Given the description of an element on the screen output the (x, y) to click on. 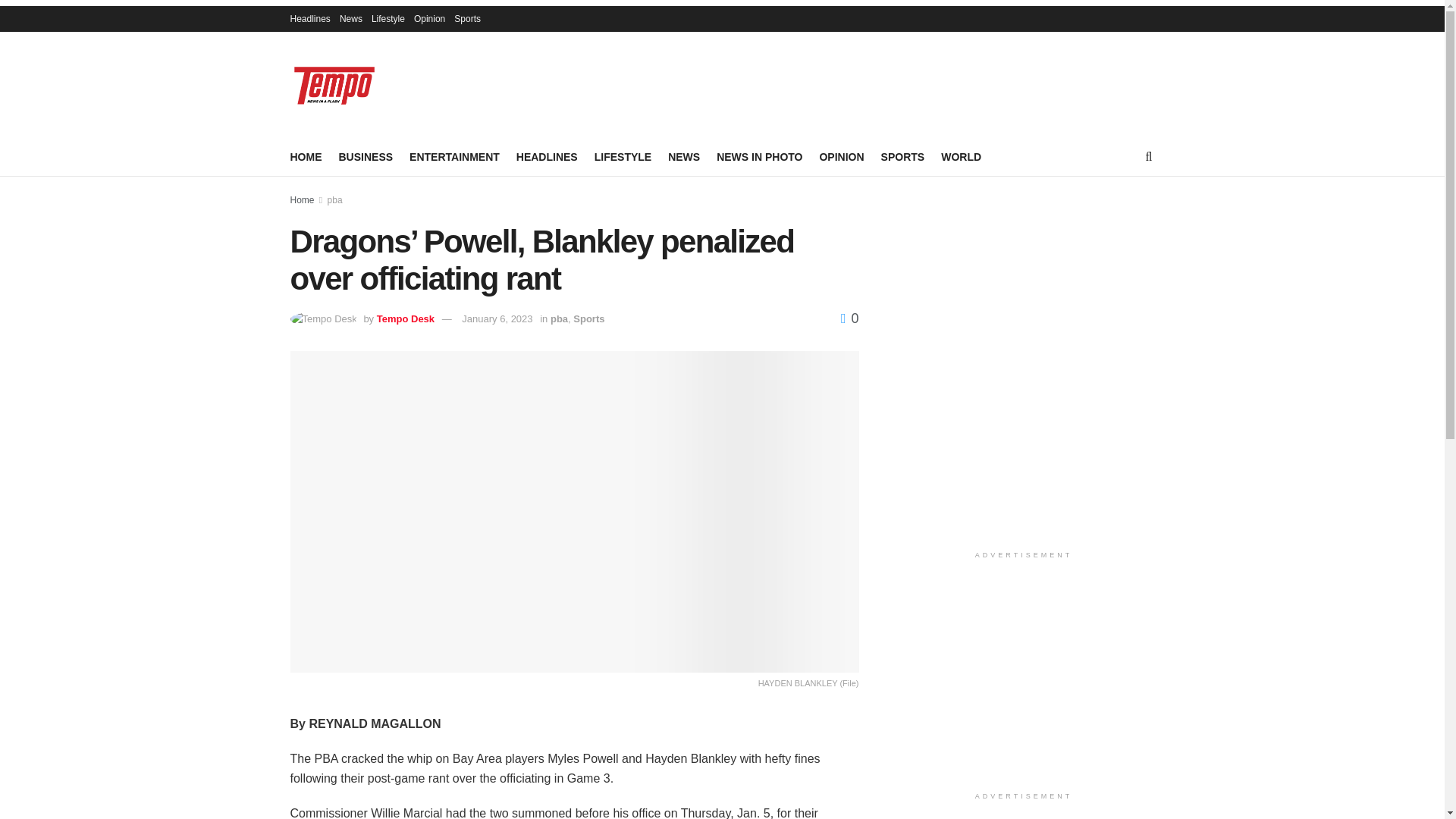
HEADLINES (547, 156)
HOME (305, 156)
Sports (467, 18)
BUSINESS (365, 156)
ENTERTAINMENT (454, 156)
Lifestyle (387, 18)
Opinion (429, 18)
Headlines (309, 18)
LIFESTYLE (622, 156)
NEWS (684, 156)
